Given the description of an element on the screen output the (x, y) to click on. 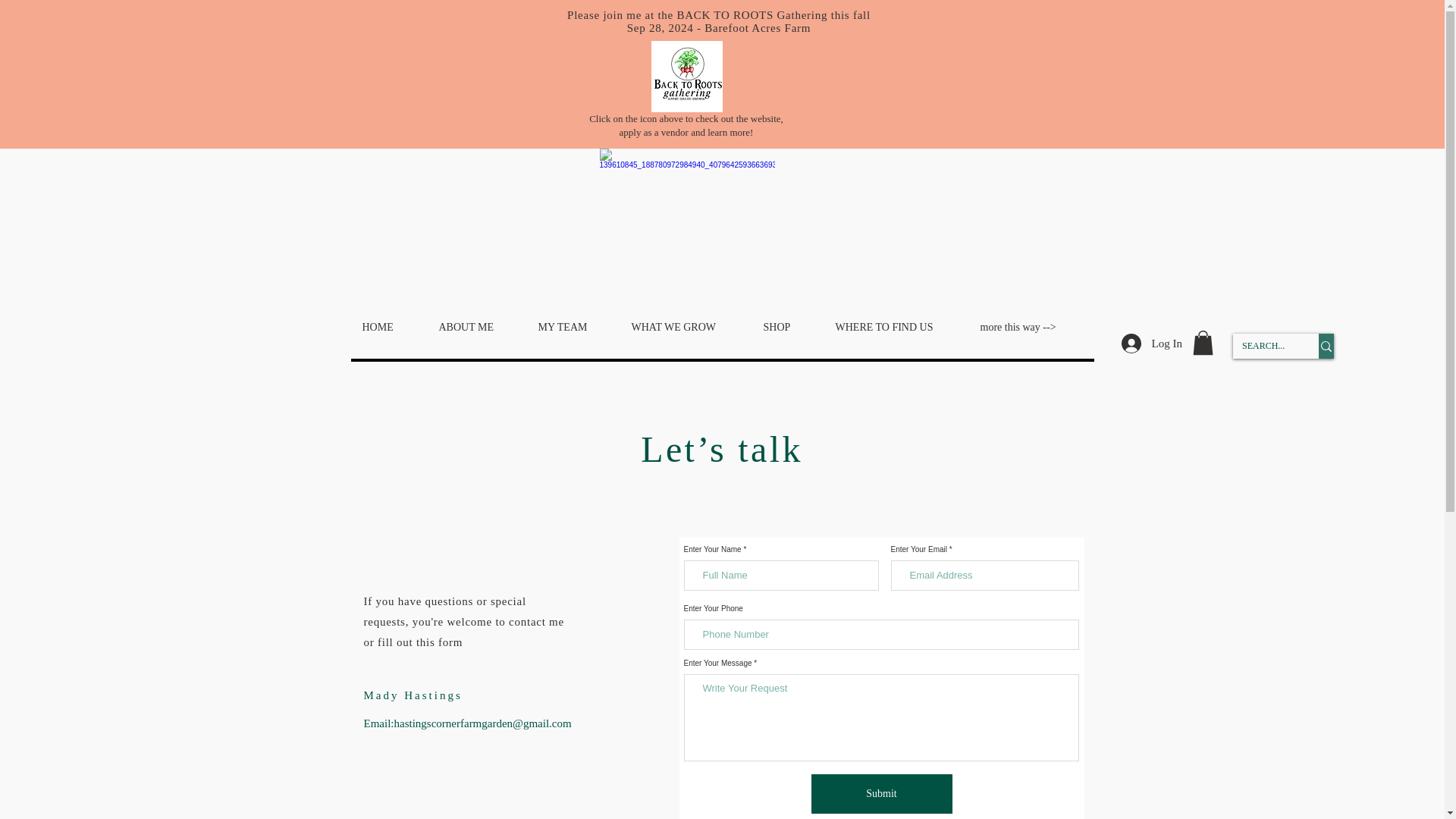
WHERE TO FIND US (896, 326)
HOME (388, 326)
SHOP (786, 326)
Log In (1151, 343)
MY TEAM (572, 326)
Submit (881, 793)
ABOUT ME (475, 326)
WHAT WE GROW (684, 326)
